Given the description of an element on the screen output the (x, y) to click on. 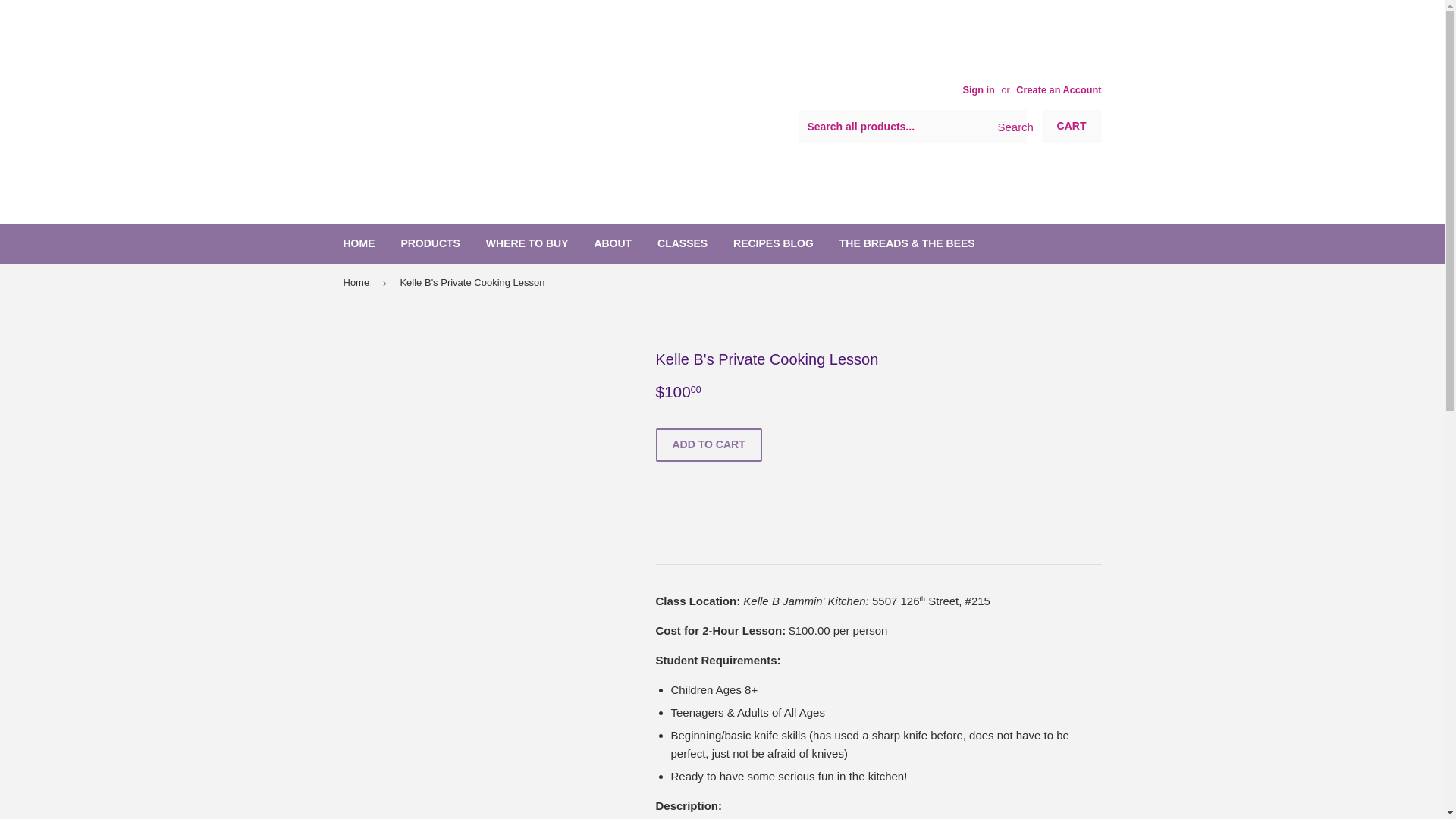
Create an Account (1058, 89)
PRODUCTS (429, 242)
CLASSES (682, 242)
HOME (359, 242)
Sign in (978, 89)
CART (1072, 126)
Search (1009, 127)
ABOUT (612, 242)
WHERE TO BUY (526, 242)
